Given the description of an element on the screen output the (x, y) to click on. 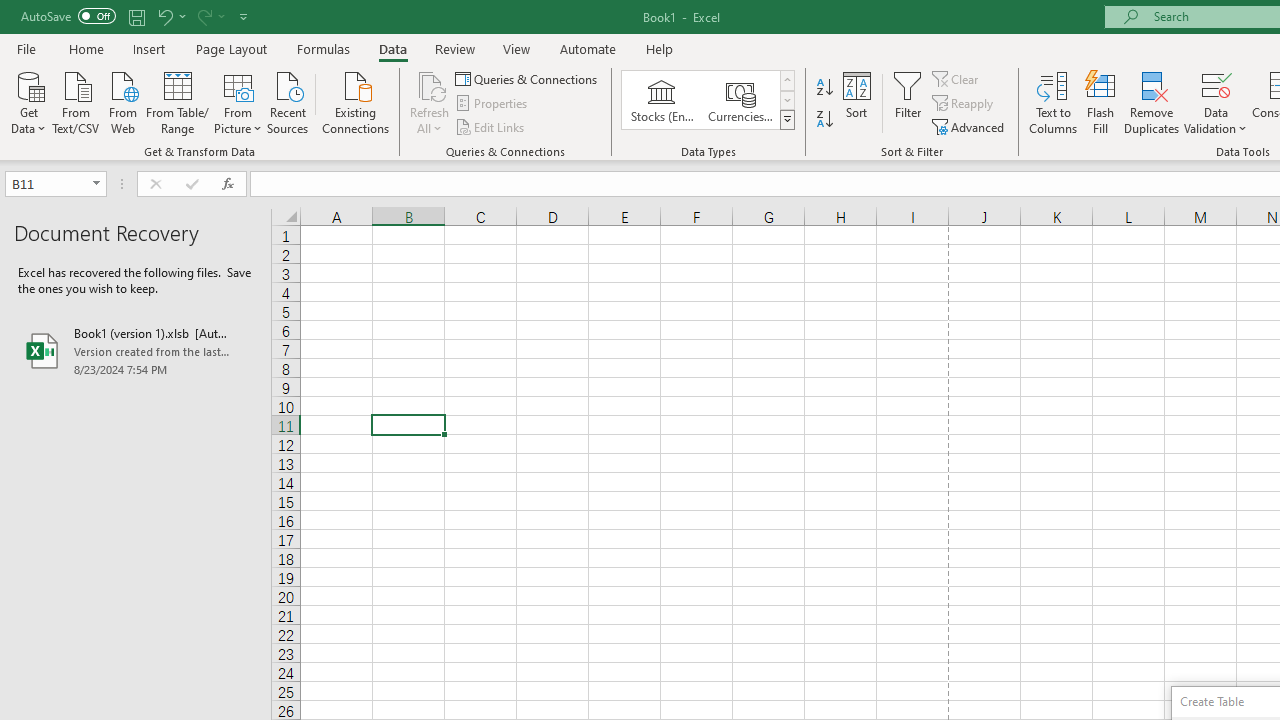
Sort... (856, 102)
From Picture (238, 101)
Existing Connections (355, 101)
Text to Columns... (1053, 102)
Sort Z to A (824, 119)
Flash Fill (1101, 102)
Recent Sources (287, 101)
AutomationID: ConvertToLinkedEntity (708, 99)
Row up (786, 79)
Get Data (28, 101)
